Given the description of an element on the screen output the (x, y) to click on. 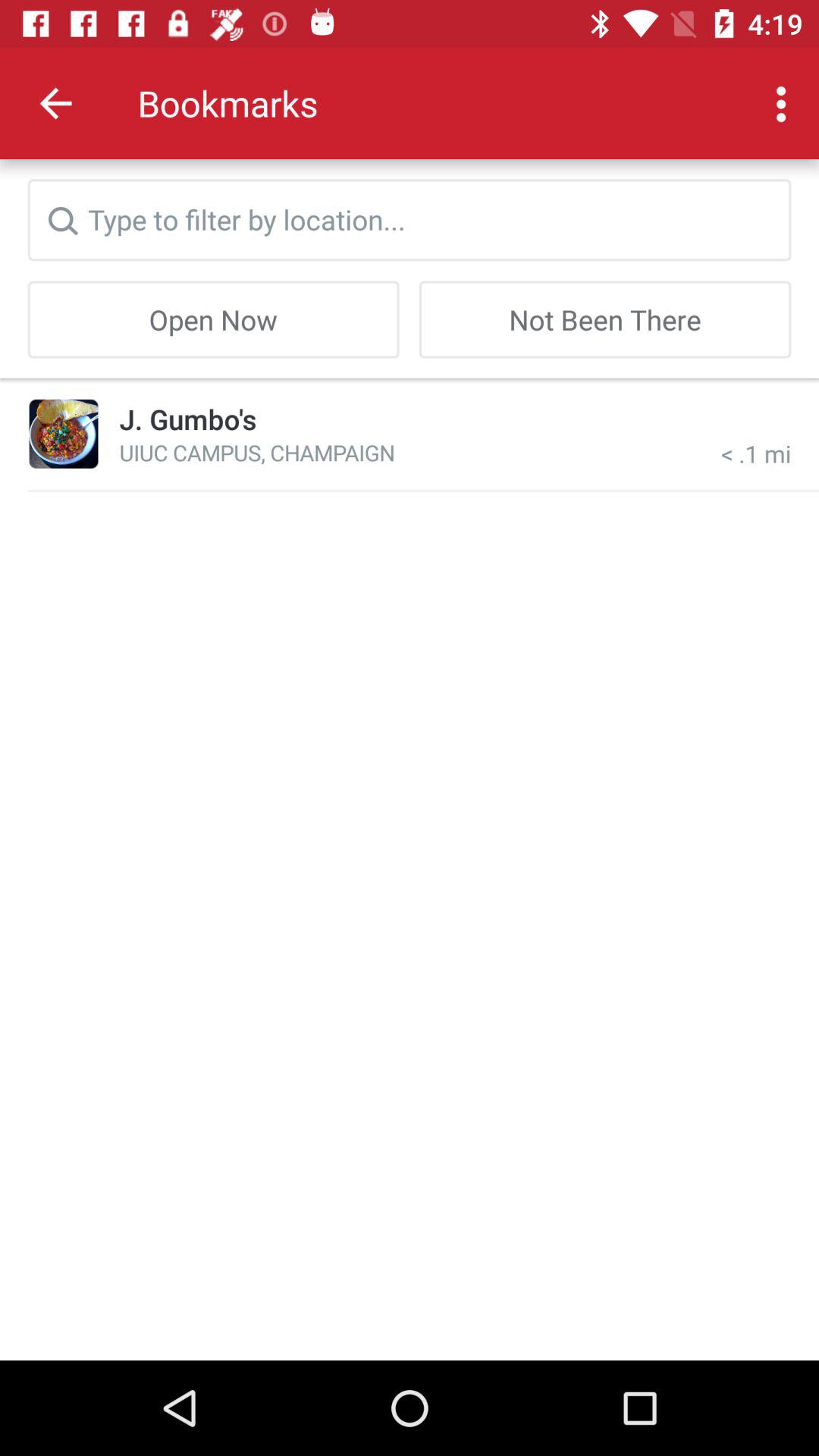
launch icon below the open now item (63, 433)
